Given the description of an element on the screen output the (x, y) to click on. 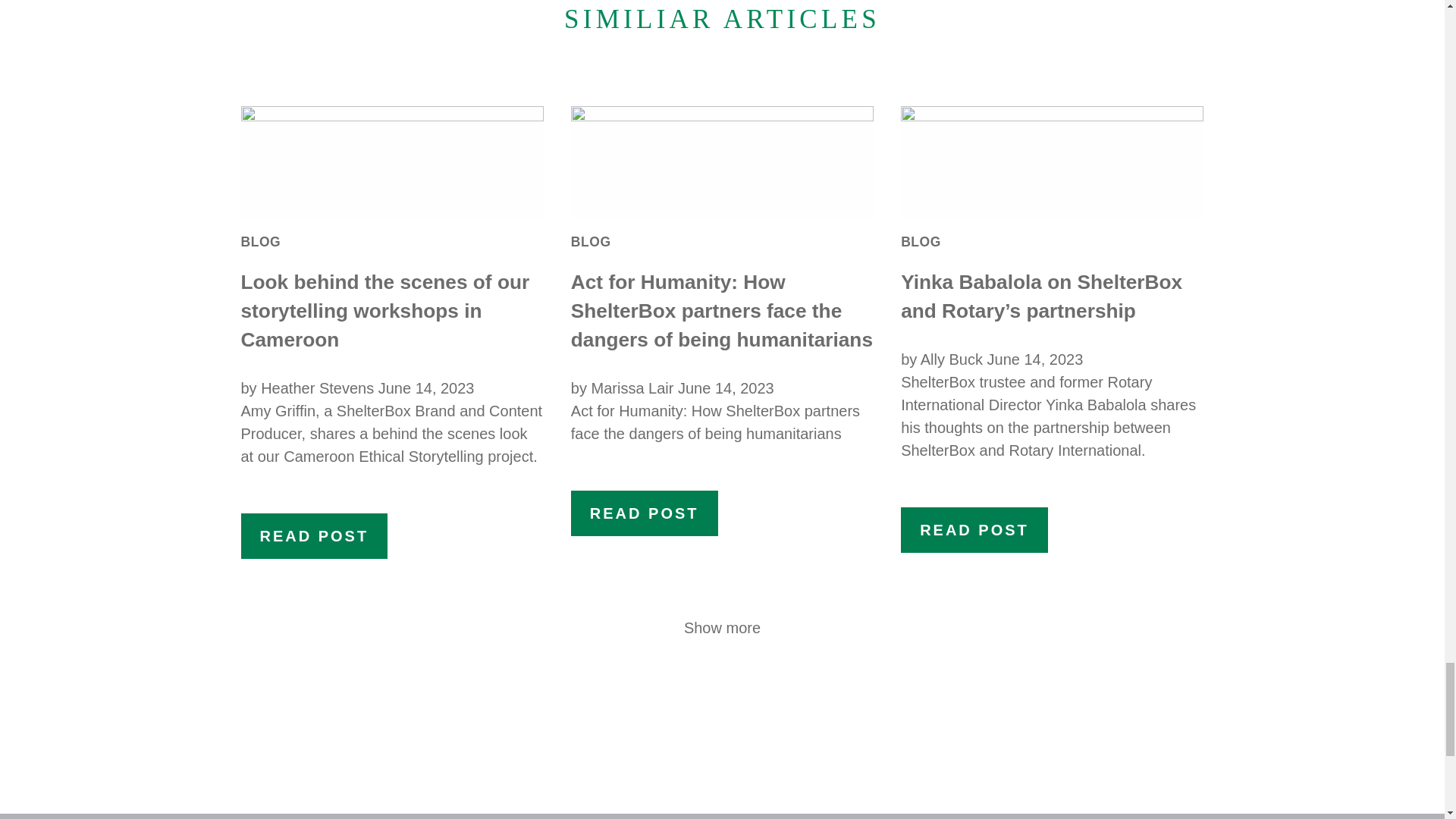
READ POST (643, 513)
READ POST (314, 535)
READ POST (974, 529)
